Given the description of an element on the screen output the (x, y) to click on. 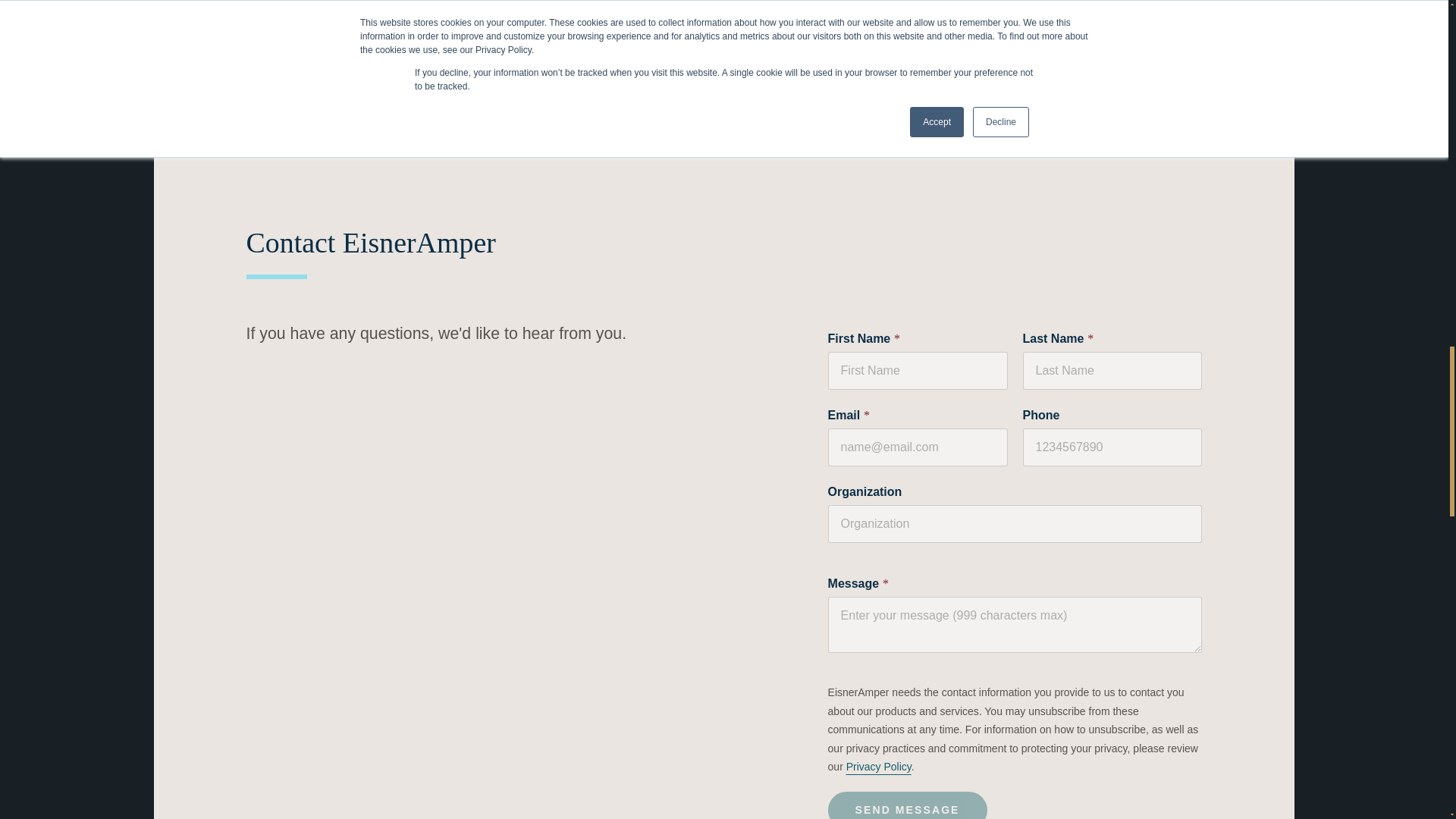
Send Message (907, 805)
